Given the description of an element on the screen output the (x, y) to click on. 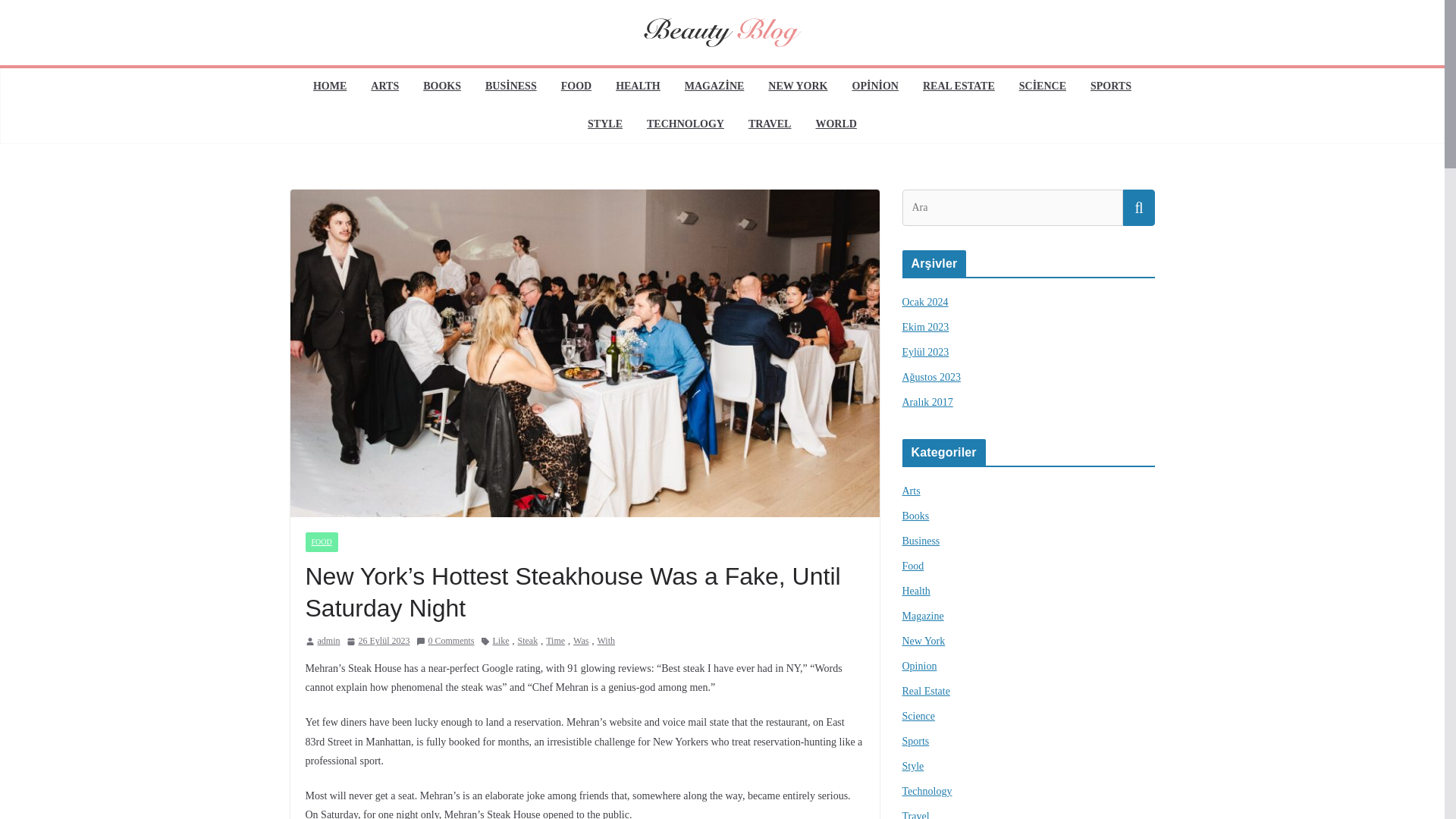
NEW YORK (797, 87)
HOME (329, 87)
MAGAZINE (714, 87)
With (605, 641)
WORLD (835, 124)
Ocak 2024 (925, 301)
Like (501, 641)
BUSINESS (510, 87)
Arts (911, 490)
Business (921, 541)
SCIENCE (1042, 87)
admin (328, 641)
Books (916, 515)
0 Comments (444, 641)
TECHNOLOGY (684, 124)
